Given the description of an element on the screen output the (x, y) to click on. 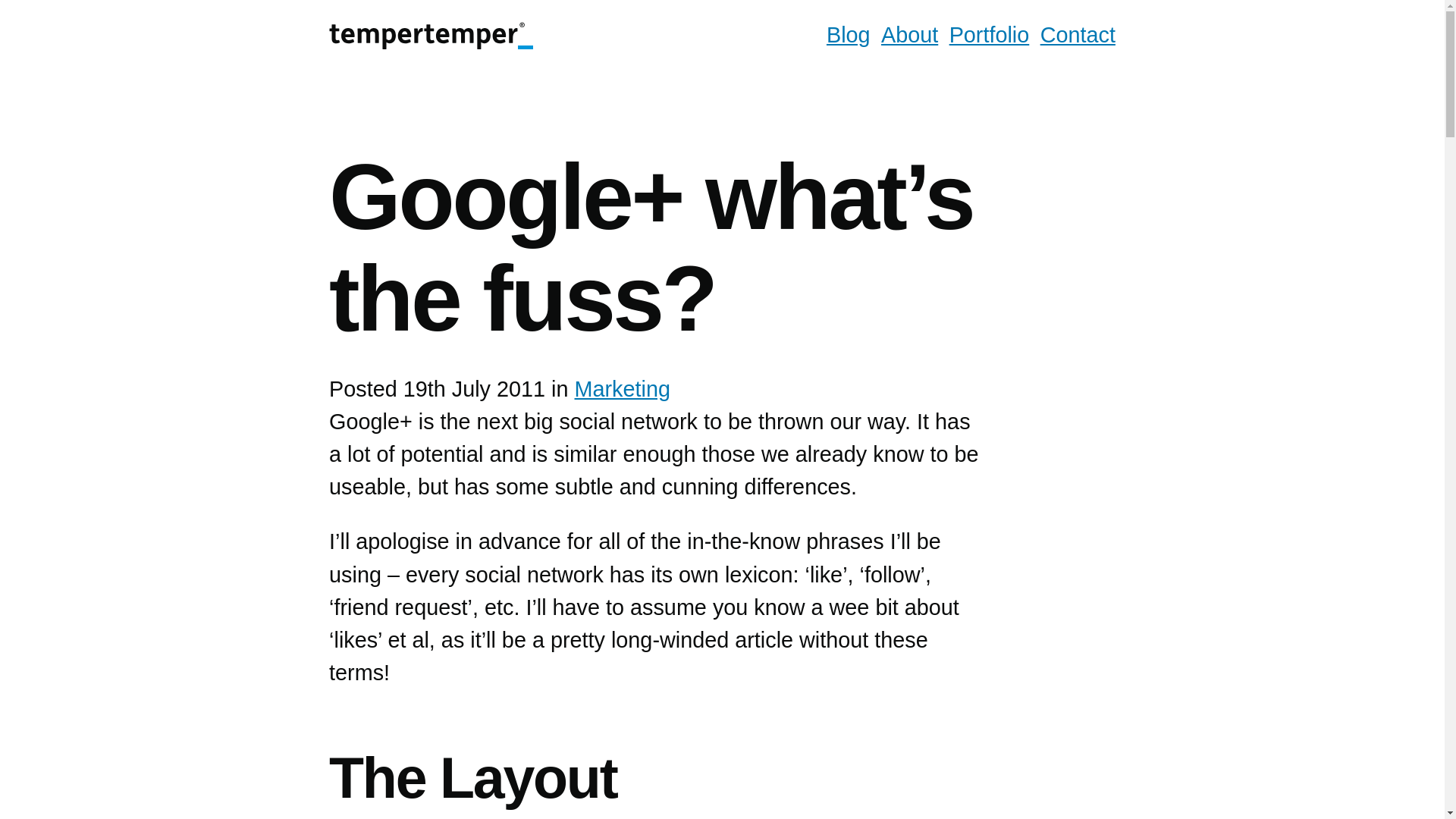
Contact (1078, 35)
About (908, 35)
Portfolio (989, 35)
Blog (848, 35)
Marketing (622, 386)
